Given the description of an element on the screen output the (x, y) to click on. 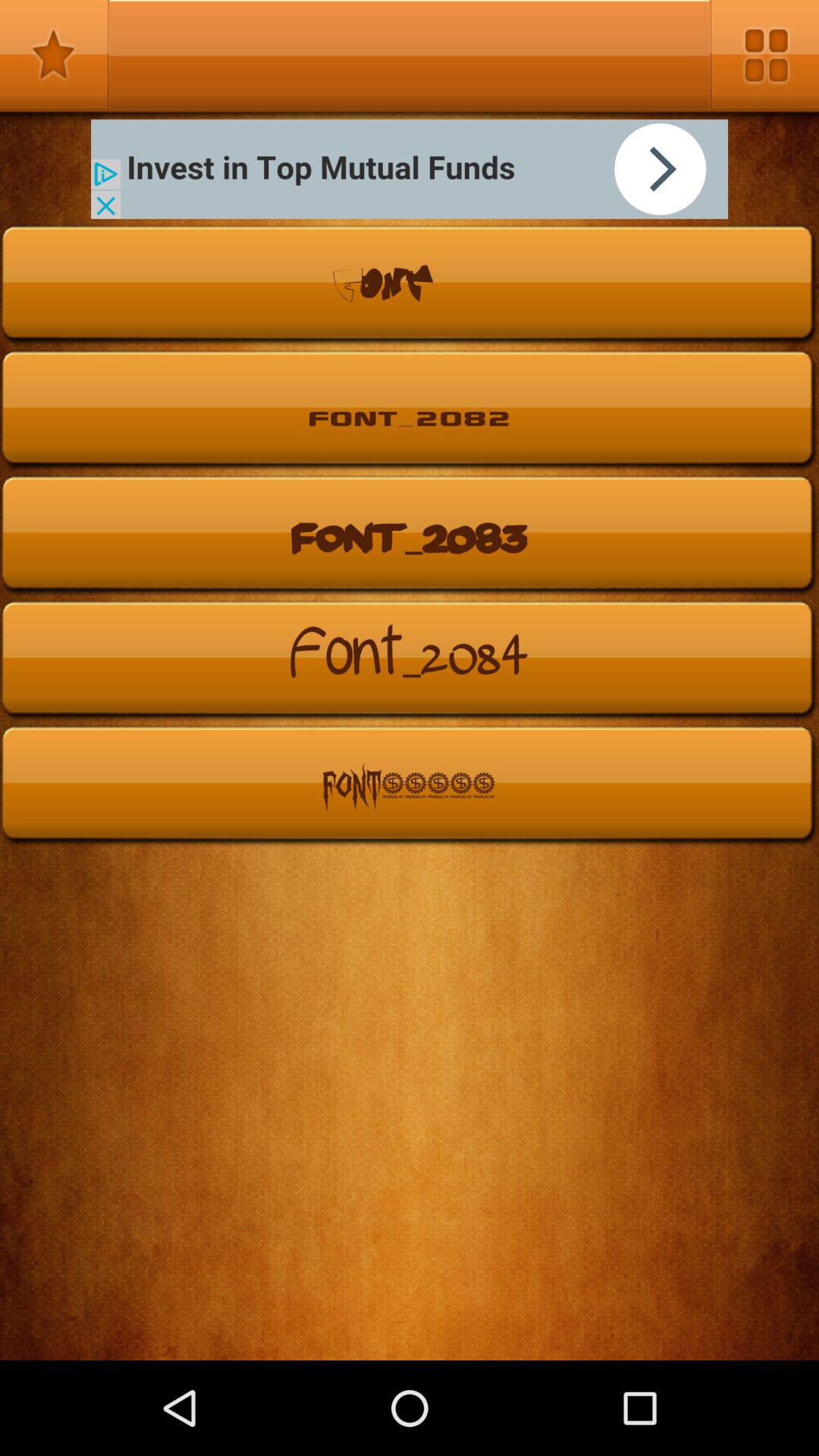
go to menu (764, 54)
